Given the description of an element on the screen output the (x, y) to click on. 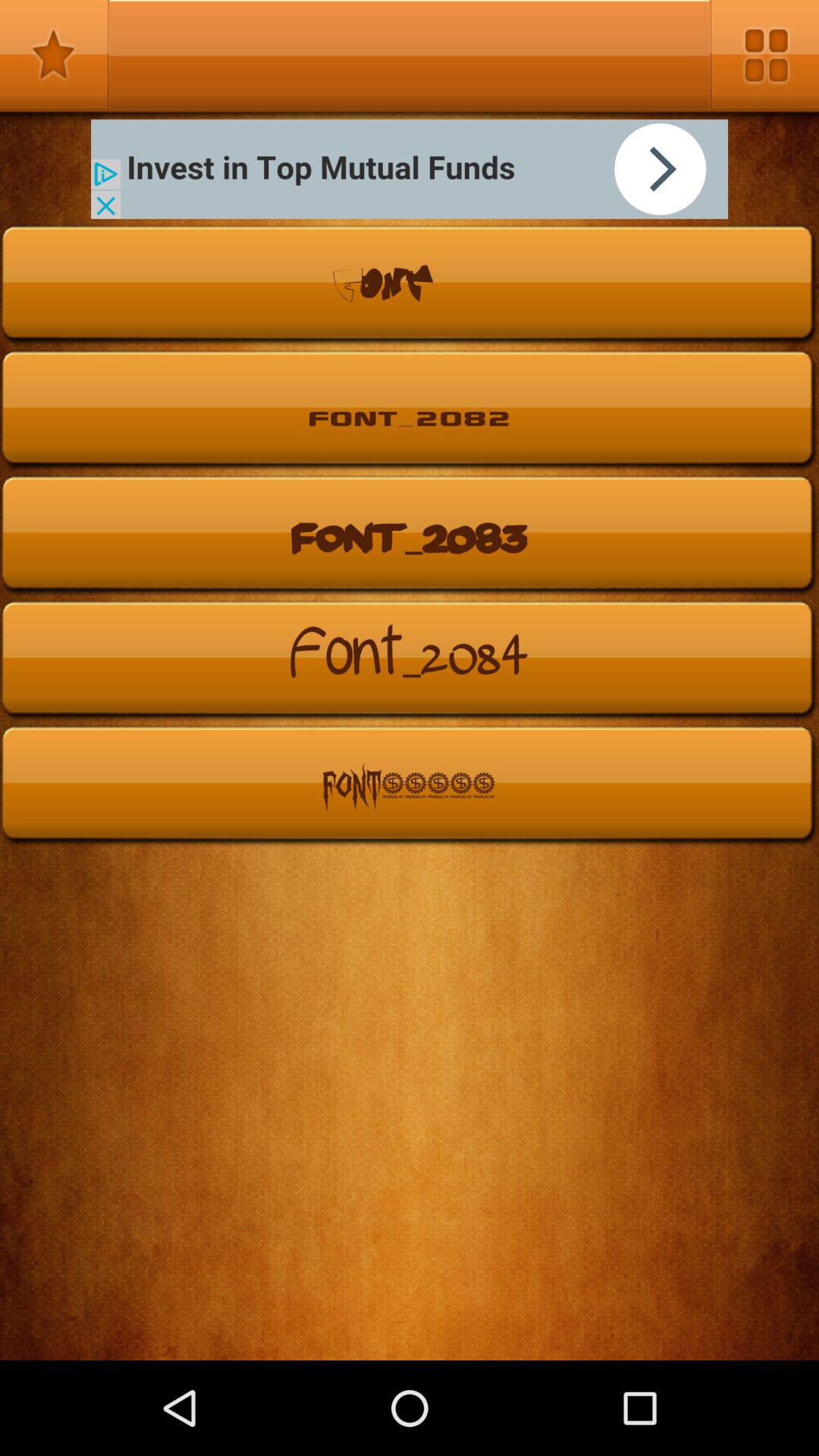
go to menu (764, 54)
